Given the description of an element on the screen output the (x, y) to click on. 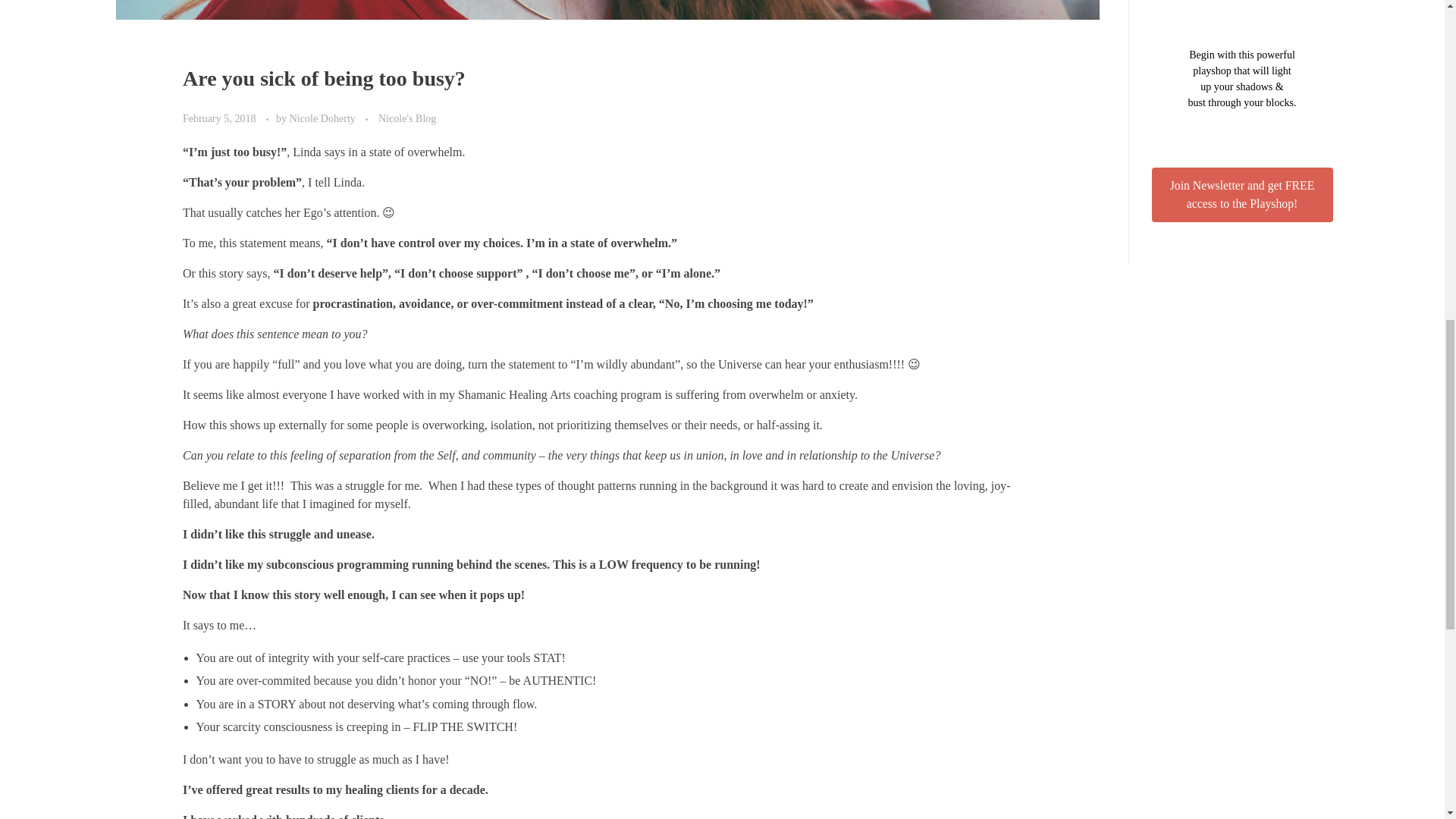
View all posts in Nicole's Blog (406, 118)
2018-02-05T01:11:56-08:00 (219, 118)
Nicole Doherty (323, 118)
View all posts by Nicole Doherty (323, 118)
February 5, 2018 (221, 118)
Are you sick of being too busy? (324, 78)
Join Newsletter and get FREE access to the Playshop! (1241, 194)
Nicole's Blog (406, 118)
